Given the description of an element on the screen output the (x, y) to click on. 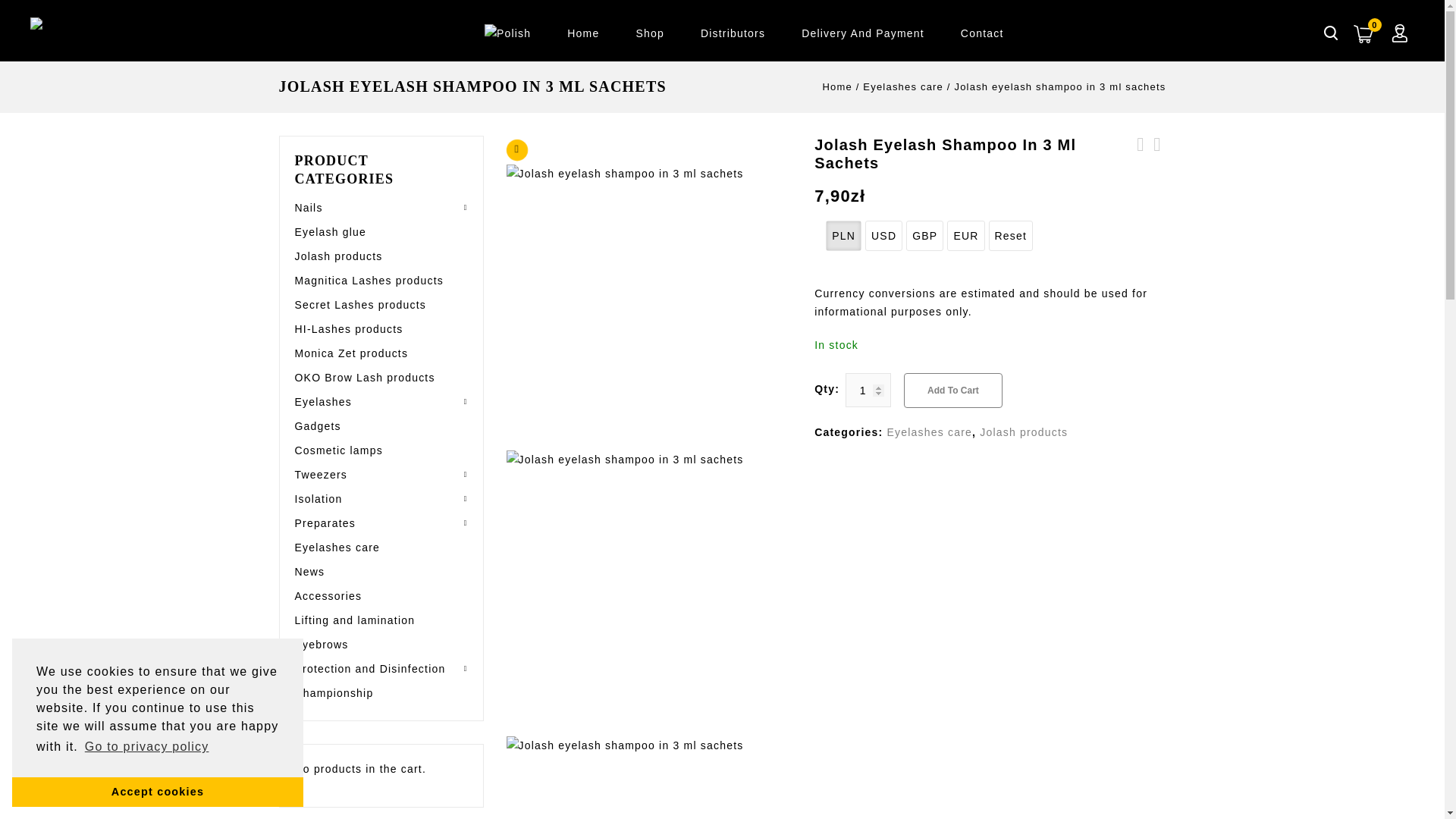
Qty (868, 390)
Go to privacy policy (146, 746)
Accept cookies (156, 791)
Jolash eyelash shampoo in 3 ml sachets (649, 307)
View your shopping cart (1363, 33)
Original price:7.9 (838, 195)
Jolash eyelash shampoo in 3 ml sachets (649, 593)
Jolash eyelash shampoo in 3 ml sachets (649, 777)
1 (868, 390)
View your shopping cart (1374, 24)
Star Lash Academy (99, 25)
